Given the description of an element on the screen output the (x, y) to click on. 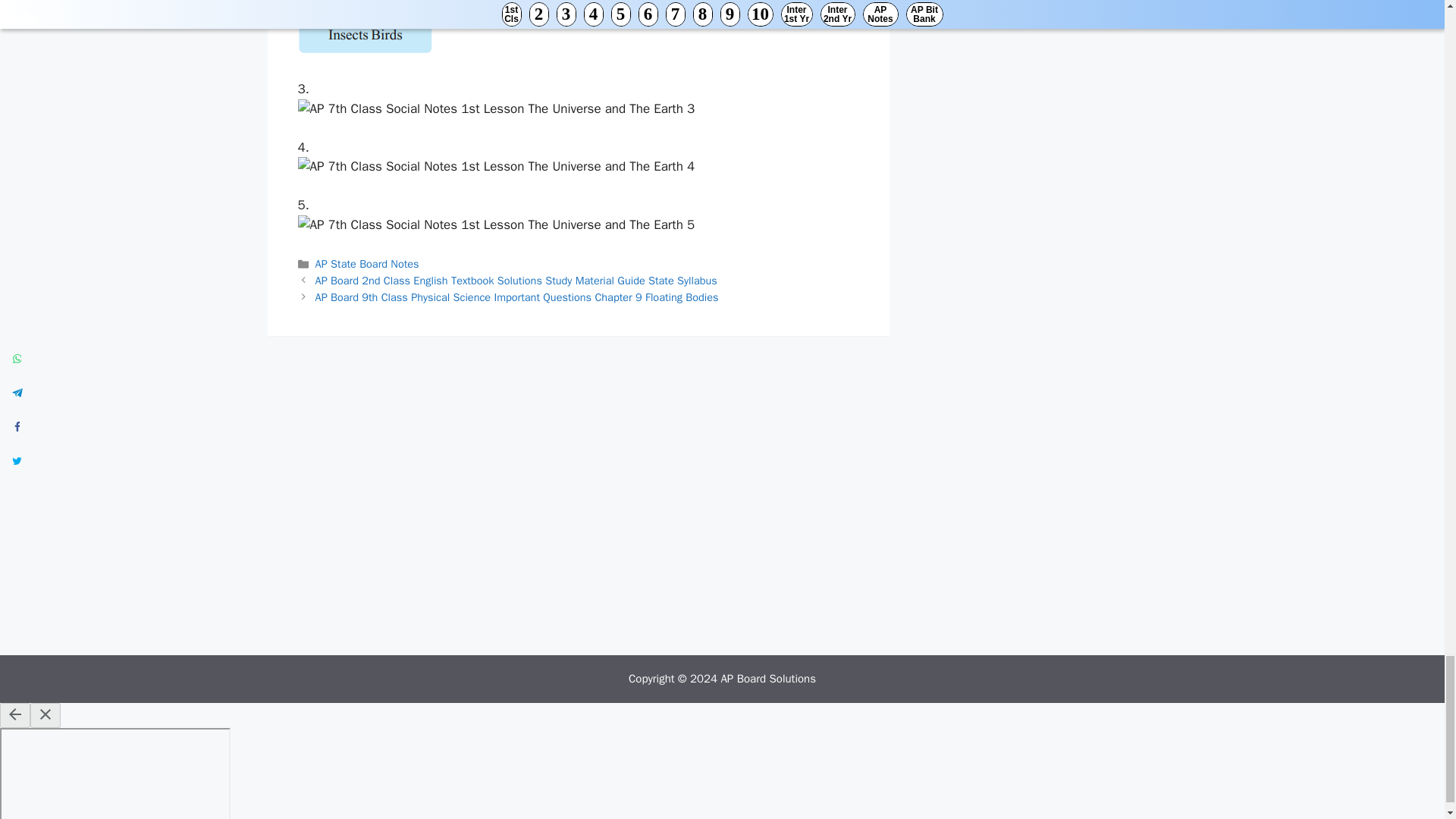
AP State Board Notes (367, 264)
Next (517, 296)
Previous (516, 280)
